Given the description of an element on the screen output the (x, y) to click on. 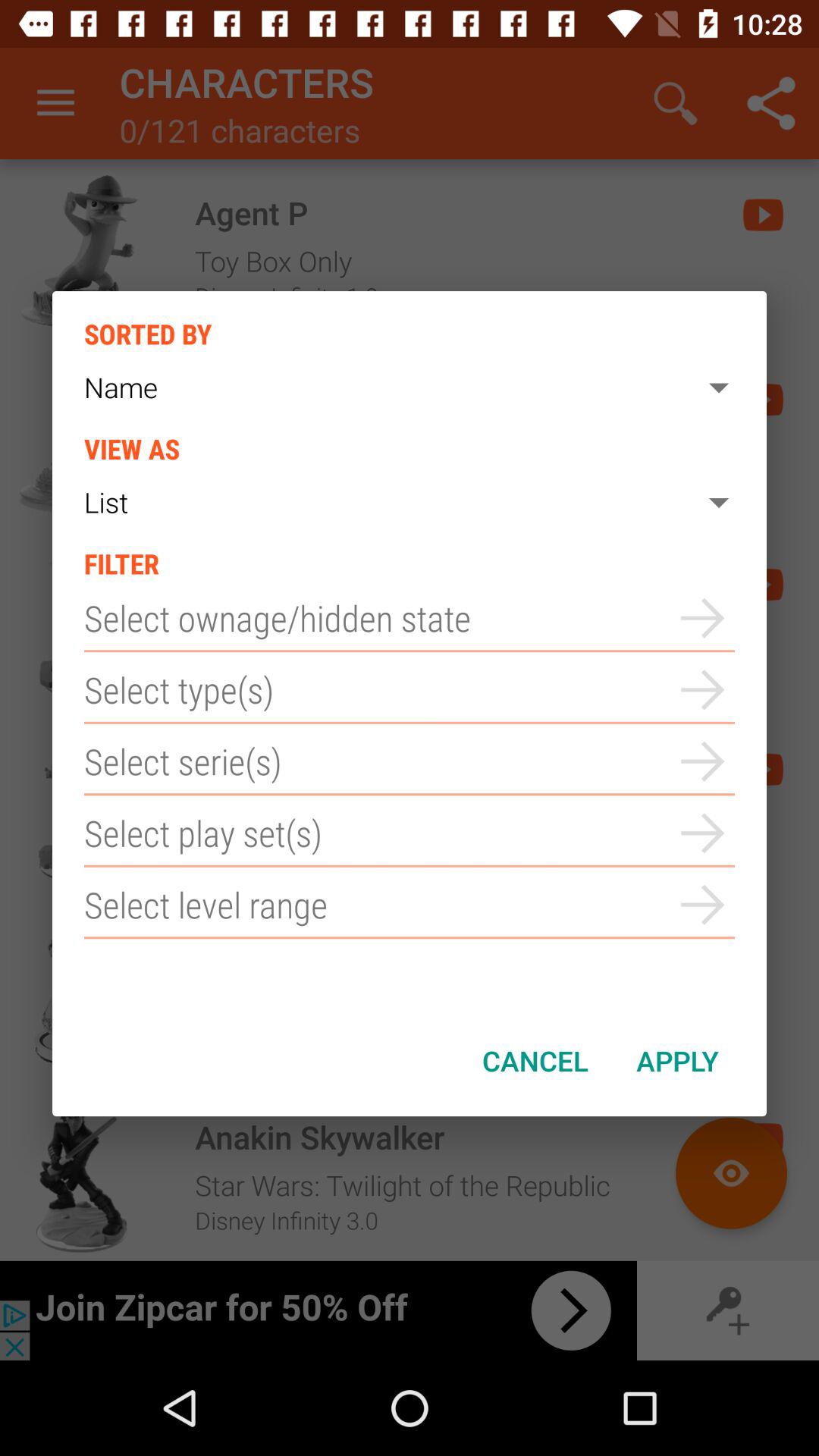
select a filter (409, 904)
